Given the description of an element on the screen output the (x, y) to click on. 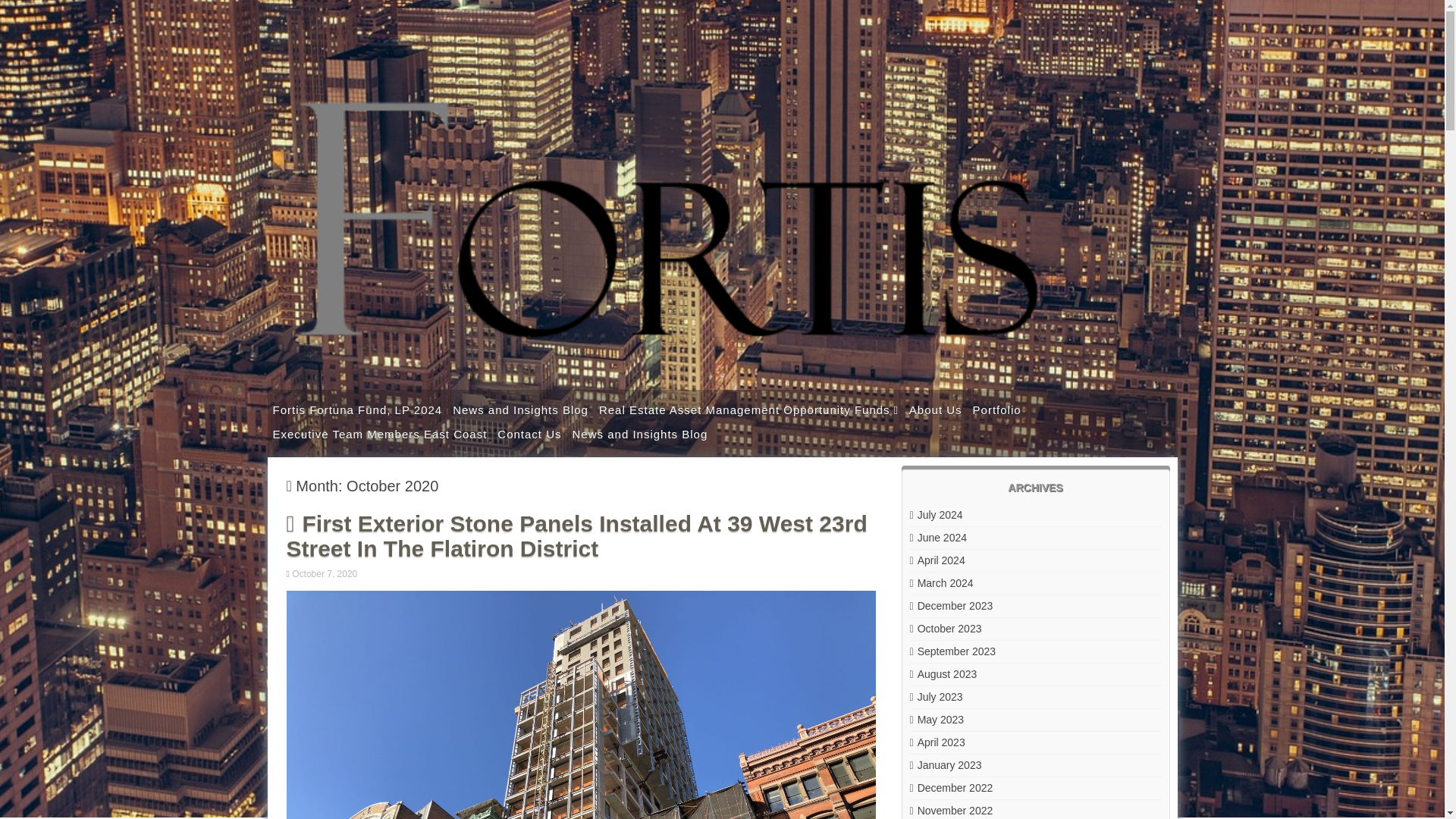
Contact Us (529, 433)
July 2024 (936, 514)
Fortis Fortuna Fund, LP 2024 (356, 409)
Real Estate Asset Management Opportunity Funds (749, 409)
June 2024 (939, 537)
April 2024 (937, 560)
October 7, 2020 (325, 573)
About Us (936, 409)
Portfolio (997, 409)
Executive Team Members East Coast (379, 433)
FORTIS INVESTMENT GROUP of Companies (722, 374)
March 2024 (942, 582)
News and Insights Blog (640, 433)
